Given the description of an element on the screen output the (x, y) to click on. 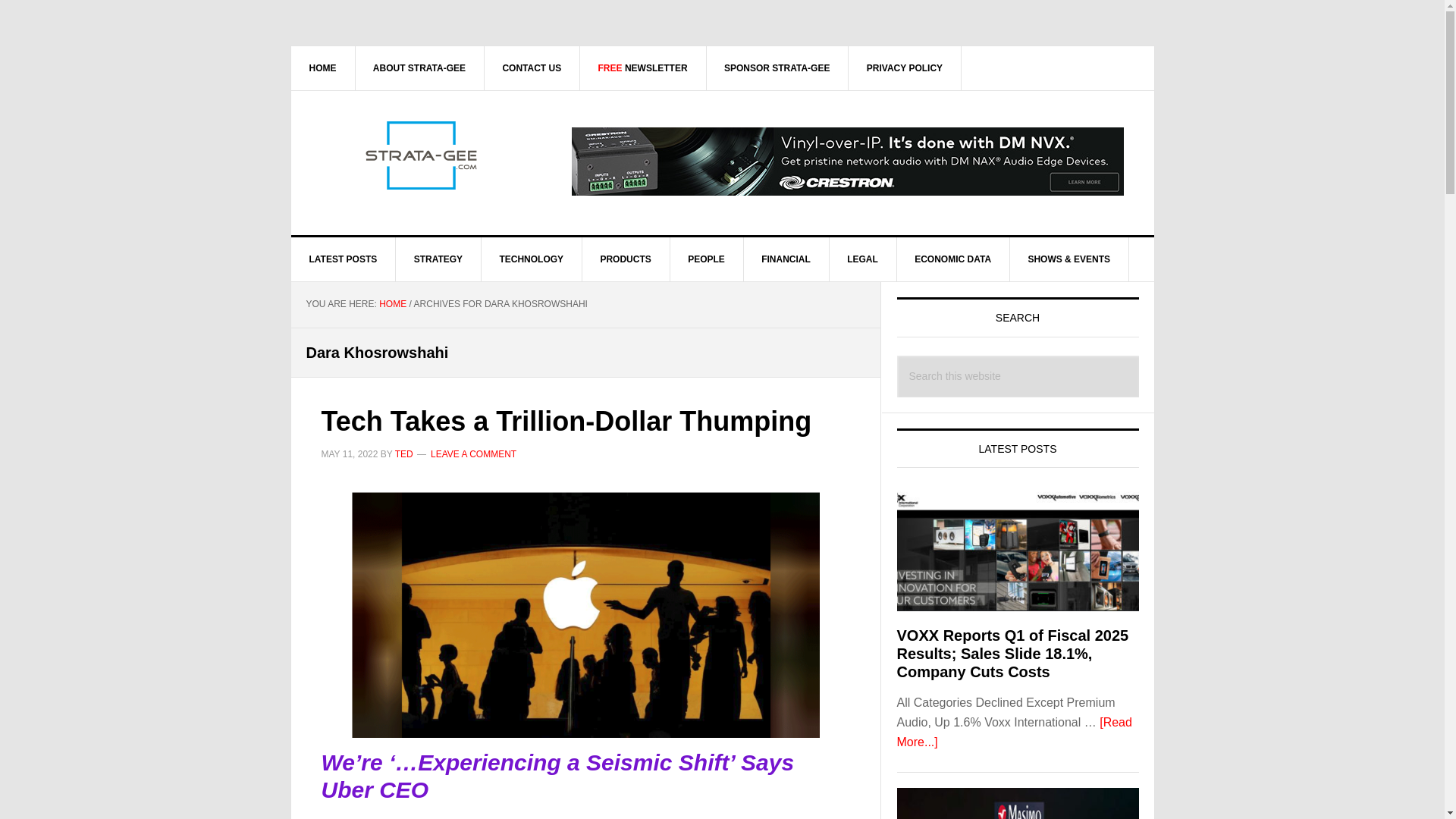
LATEST POSTS (343, 259)
STRATA-GEE.COM (419, 155)
TED (403, 453)
TECHNOLOGY (531, 259)
LEAVE A COMMENT (473, 453)
LEGAL (862, 259)
STRATEGY (438, 259)
Tech Takes a Trillion-Dollar Thumping (566, 419)
HOME (392, 303)
PEOPLE (706, 259)
FREE NEWSLETTER (642, 67)
PRODUCTS (624, 259)
ECONOMIC DATA (953, 259)
